Given the description of an element on the screen output the (x, y) to click on. 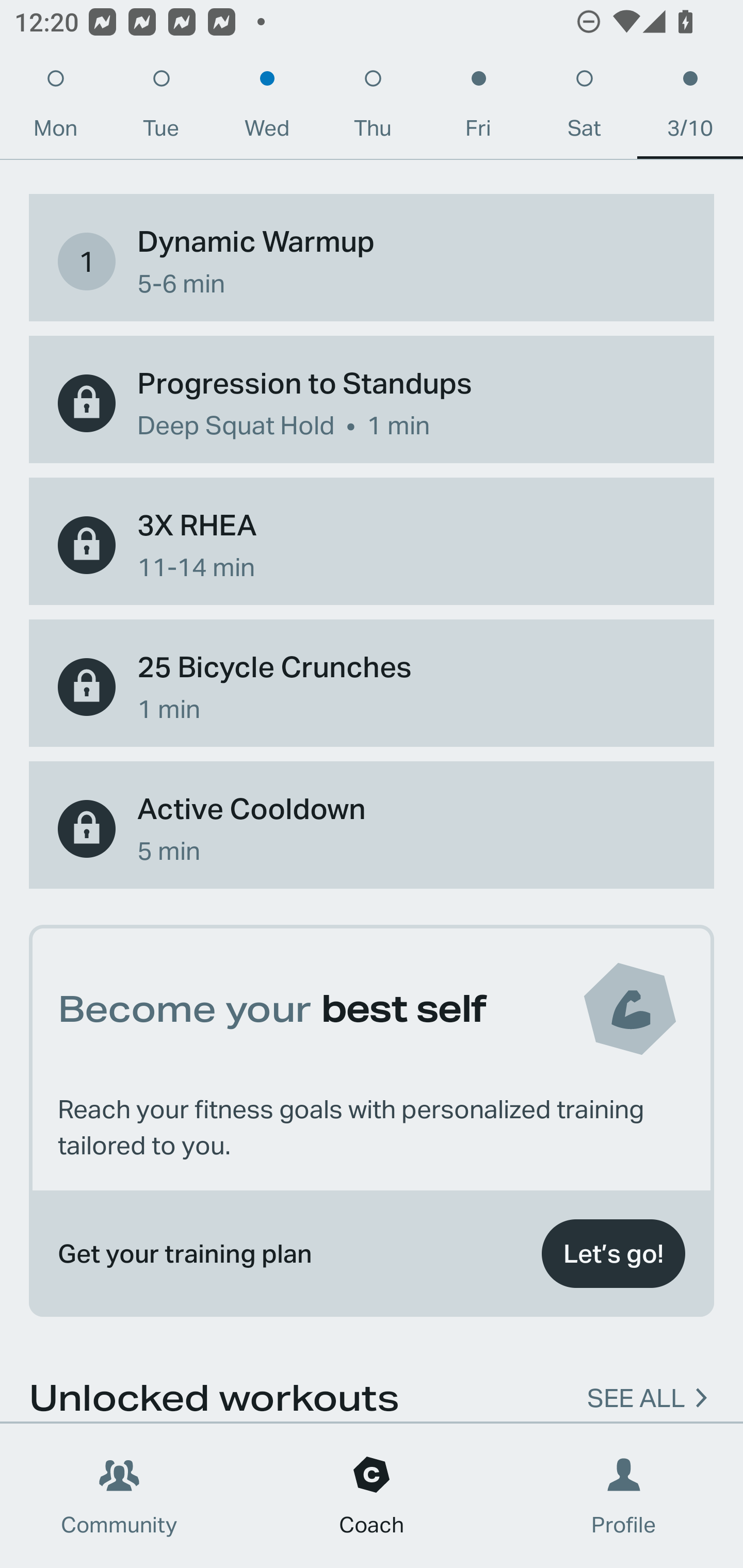
Mon (55, 108)
Tue (160, 108)
Wed (266, 108)
Thu (372, 108)
Fri (478, 108)
Sat (584, 108)
3/10 (690, 108)
1 Dynamic Warmup 5-6 min (371, 260)
Progression to Standups Deep Squat Hold  •  1 min (371, 403)
3X RHEA 11-14 min (371, 544)
25 Bicycle Crunches 1 min (371, 687)
Active Cooldown 5 min (371, 828)
Let’s go! (613, 1253)
SEE ALL (635, 1388)
Community (119, 1495)
Profile (624, 1495)
